Given the description of an element on the screen output the (x, y) to click on. 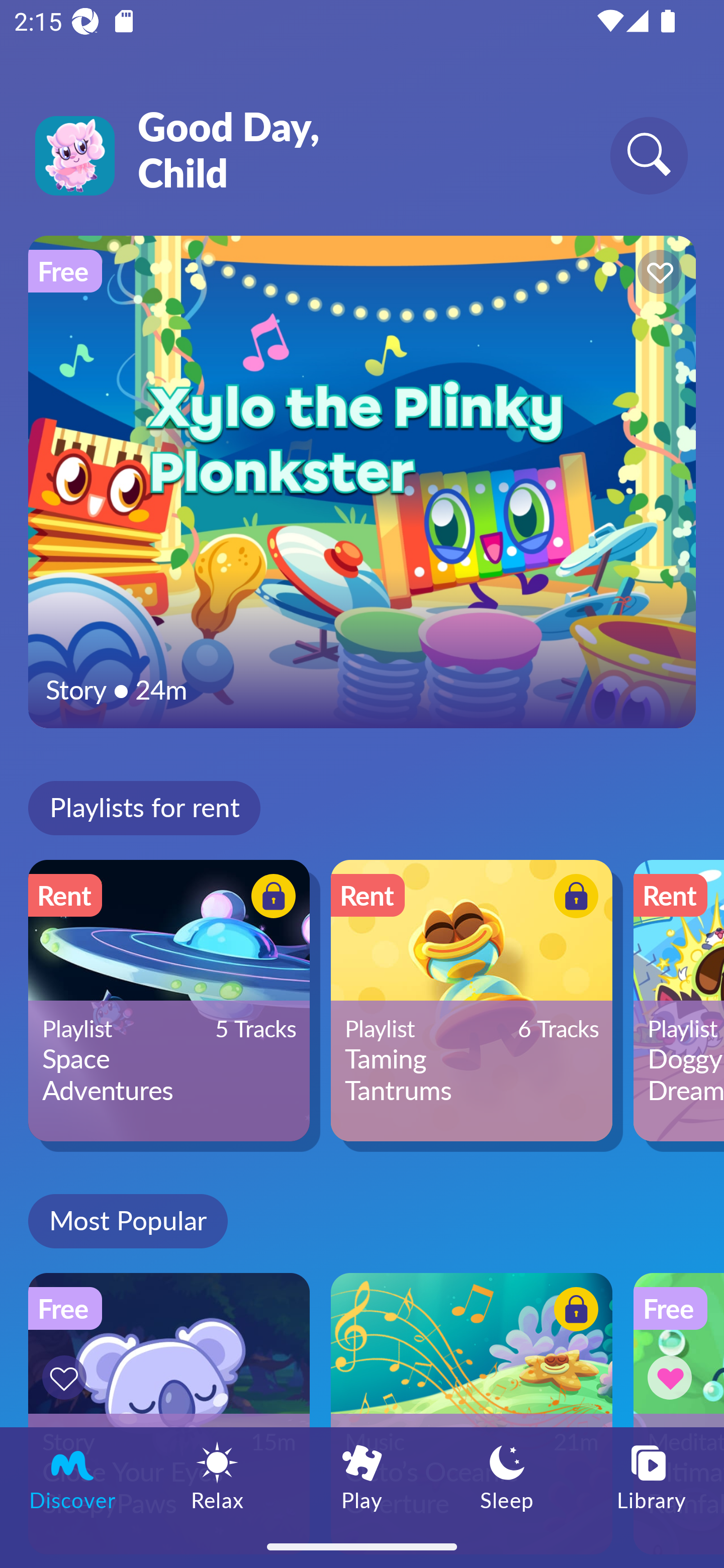
Search (648, 154)
Featured Content Free Button Story ● 24m (361, 481)
Button (656, 274)
Button (269, 898)
Button (573, 898)
Button (573, 1312)
Button (67, 1377)
Button (672, 1377)
Relax (216, 1475)
Play (361, 1475)
Sleep (506, 1475)
Library (651, 1475)
